Given the description of an element on the screen output the (x, y) to click on. 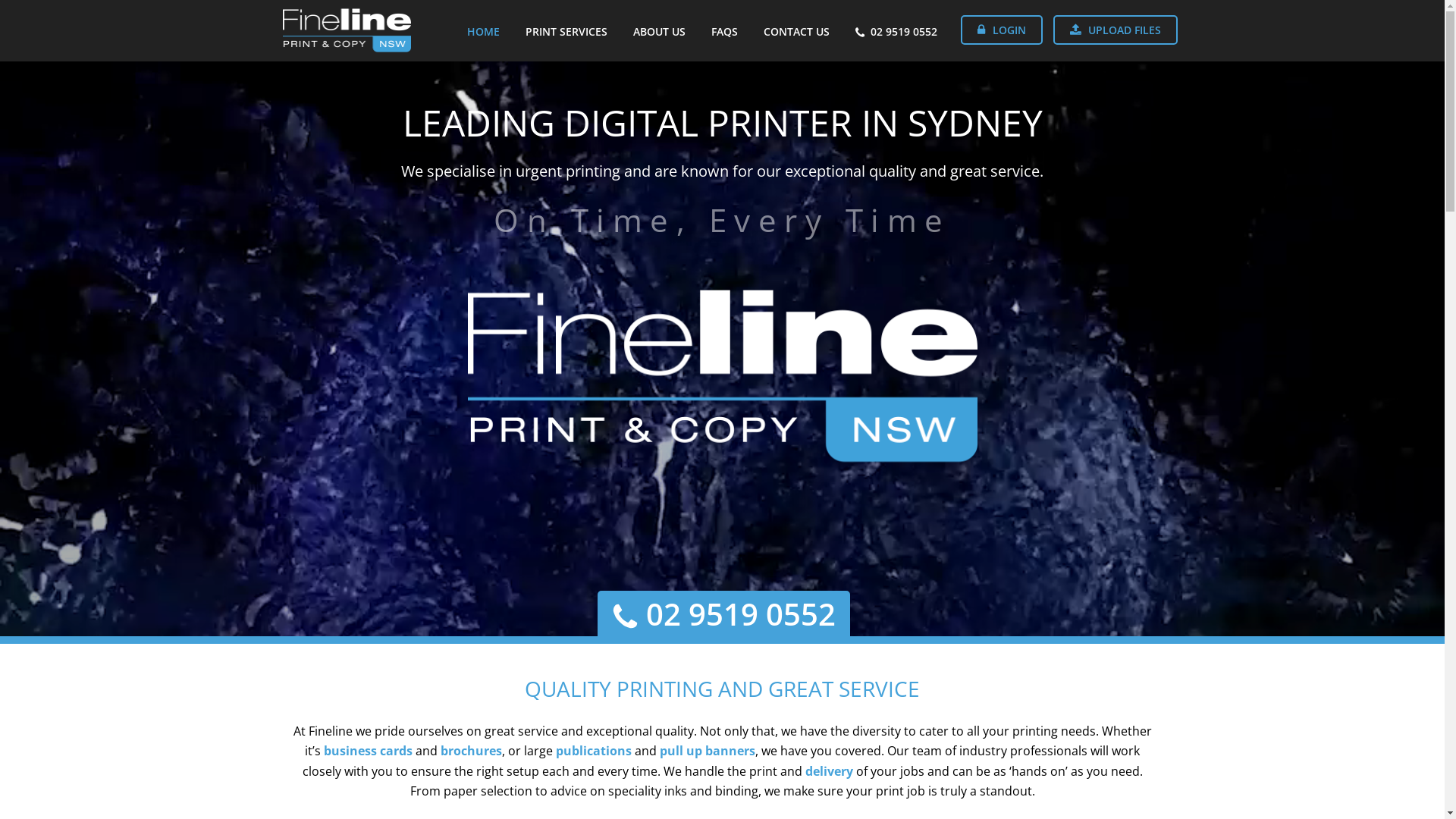
Fineline Logo Element type: hover (721, 375)
brochures Element type: text (471, 750)
02 9519 0552 Element type: text (896, 30)
UPLOAD FILES Element type: text (1115, 29)
FAQS Element type: text (724, 30)
LOGIN Element type: text (1000, 29)
publications Element type: text (593, 750)
PRINT SERVICES Element type: text (566, 30)
delivery Element type: text (829, 770)
CONTACT US Element type: text (796, 30)
pull up banners Element type: text (707, 750)
ABOUT US Element type: text (659, 30)
business cards Element type: text (367, 750)
02 9519 0552 Element type: text (723, 616)
HOME Element type: text (483, 30)
